Given the description of an element on the screen output the (x, y) to click on. 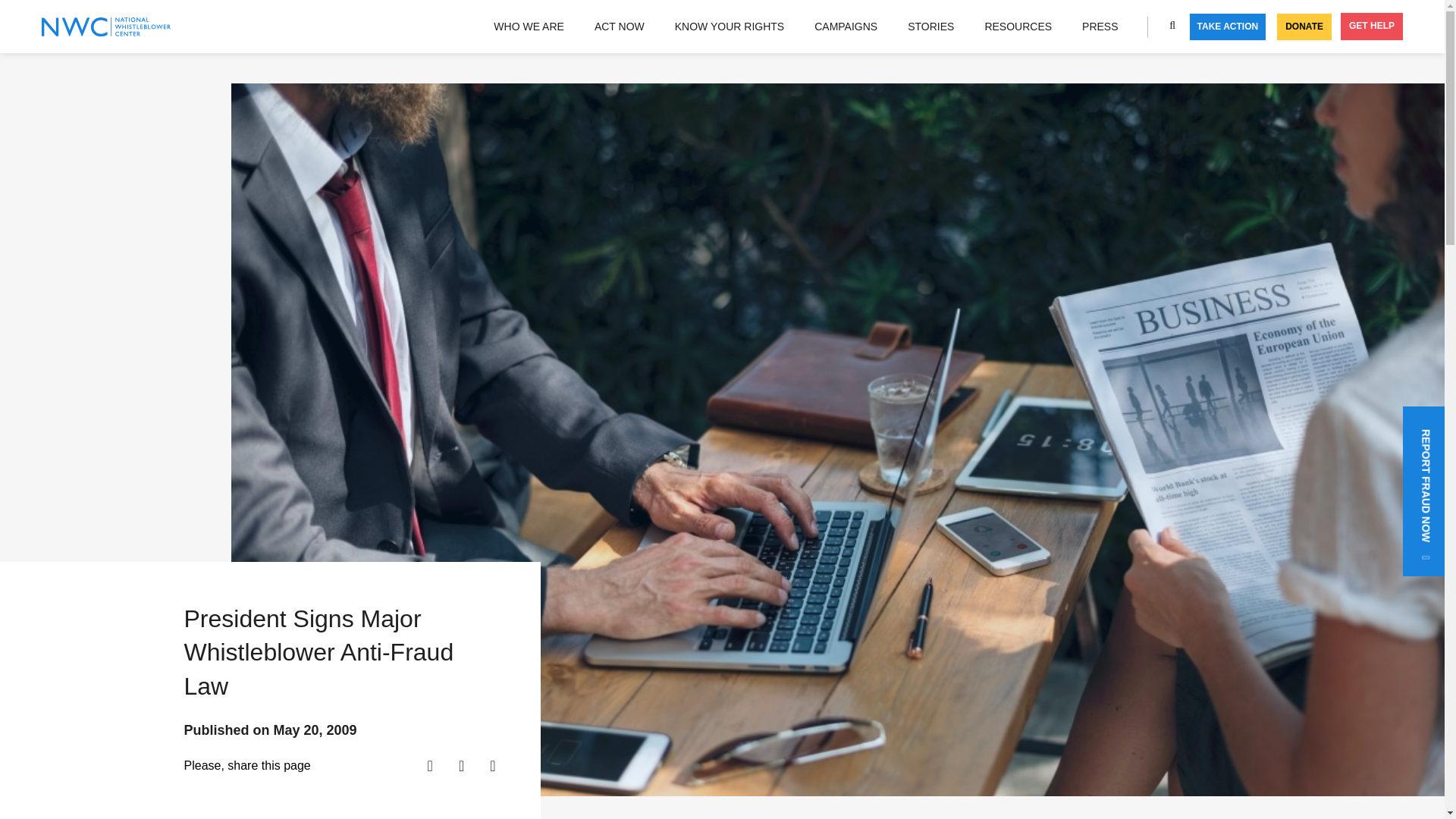
KNOW YOUR RIGHTS (729, 26)
CAMPAIGNS (845, 26)
PRESS (1099, 26)
RESOURCES (1018, 26)
WHO WE ARE (529, 26)
ACT NOW (619, 26)
STORIES (930, 26)
